Given the description of an element on the screen output the (x, y) to click on. 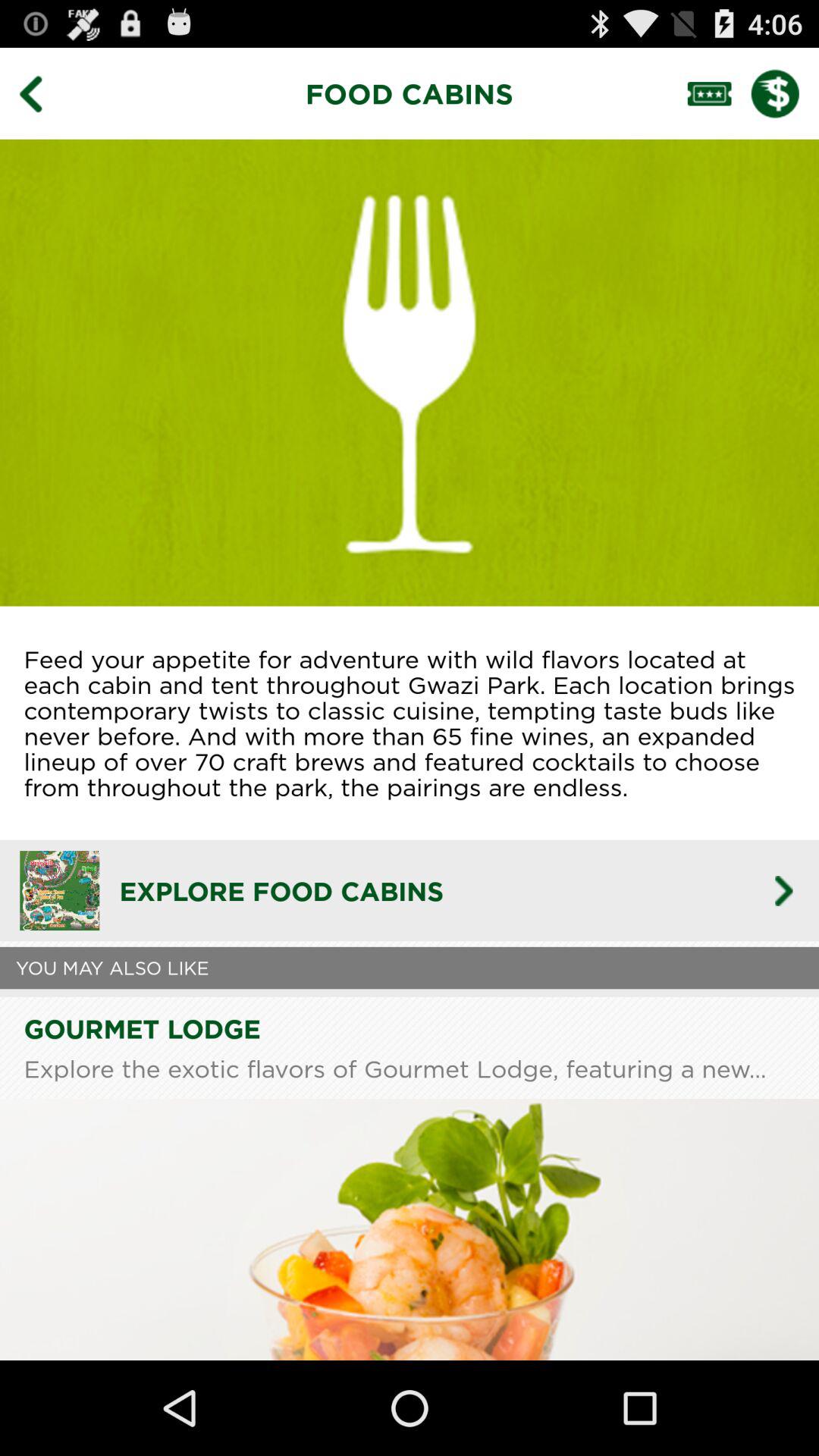
go back (41, 93)
